Given the description of an element on the screen output the (x, y) to click on. 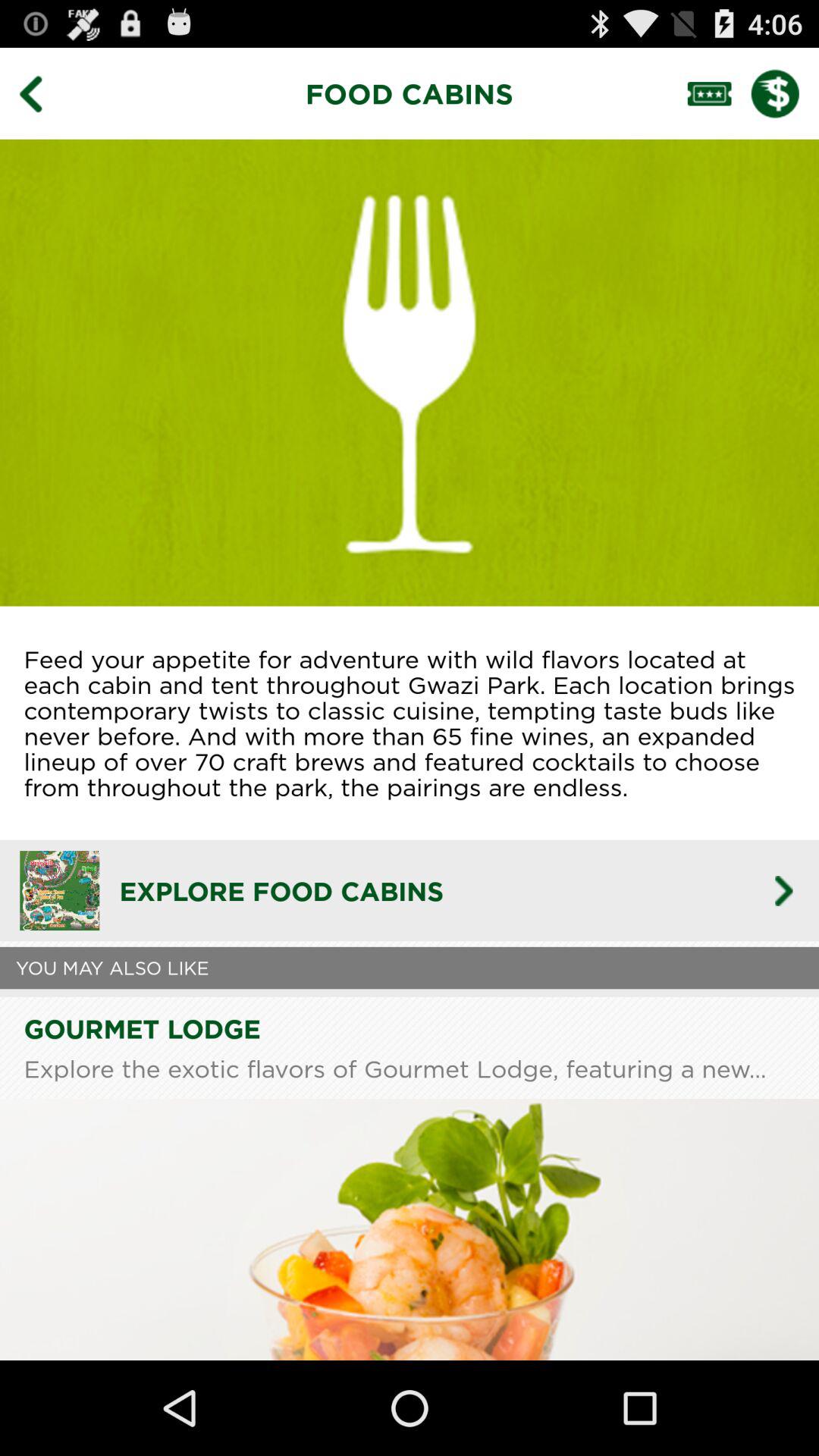
go back (41, 93)
